Given the description of an element on the screen output the (x, y) to click on. 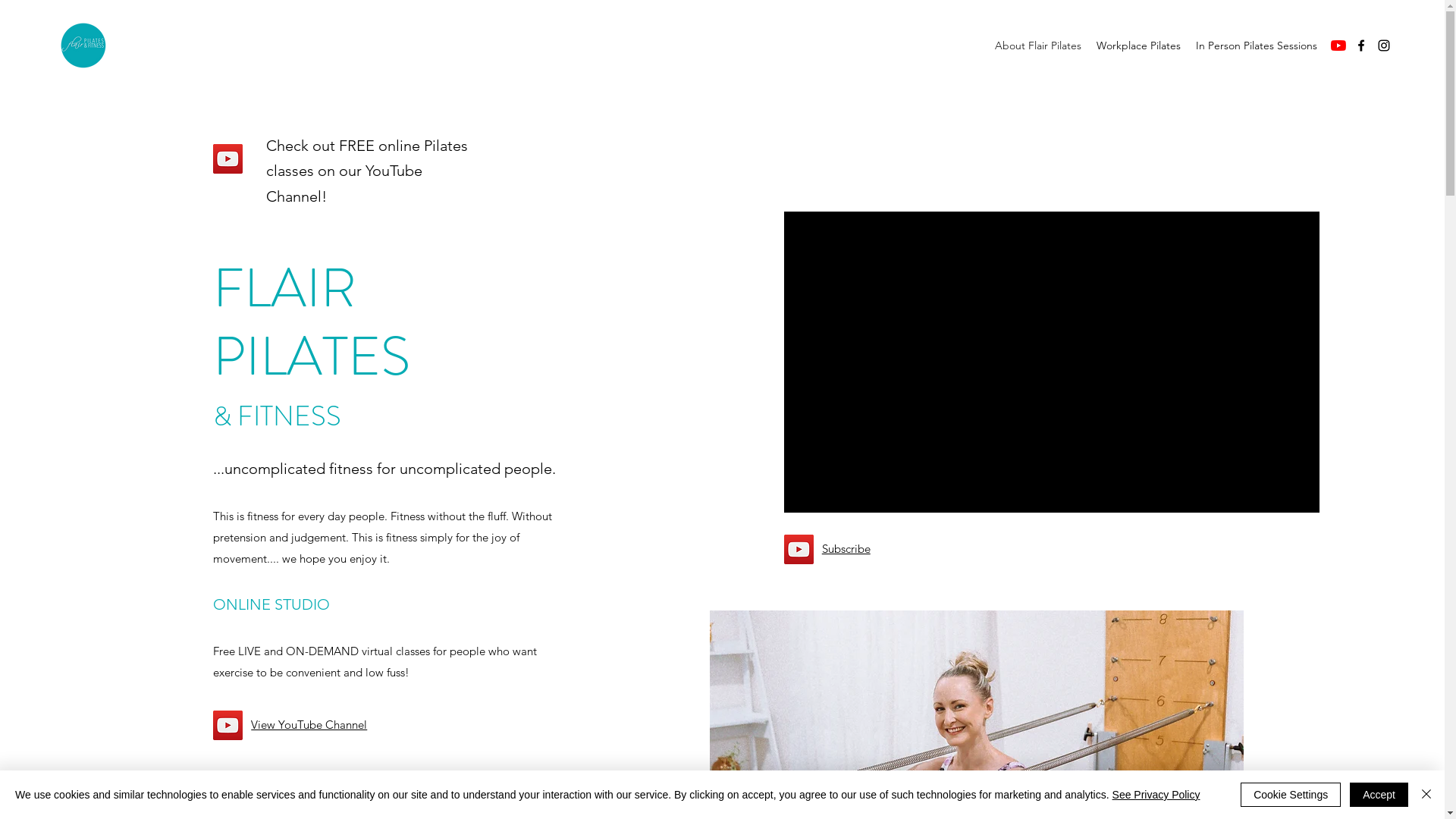
Subscribe Element type: text (846, 548)
View YouTube Channel Element type: text (309, 724)
About Flair Pilates Element type: text (1037, 45)
Accept Element type: text (1378, 794)
See Privacy Policy Element type: text (1156, 794)
Cookie Settings Element type: text (1290, 794)
In Person Pilates Sessions Element type: text (1256, 45)
Workplace Pilates Element type: text (1138, 45)
